Given the description of an element on the screen output the (x, y) to click on. 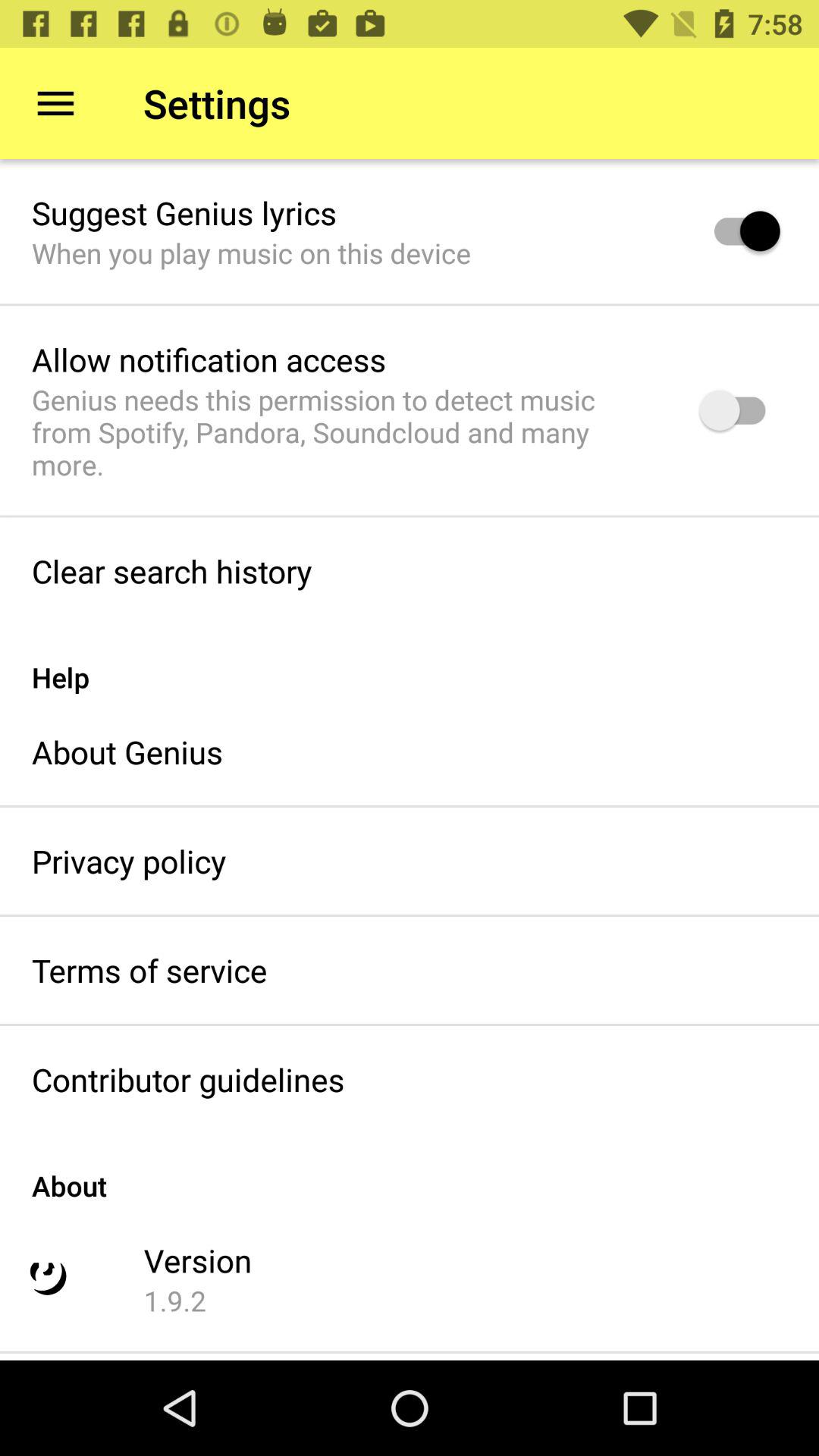
jump until 1.9.2 icon (174, 1300)
